Given the description of an element on the screen output the (x, y) to click on. 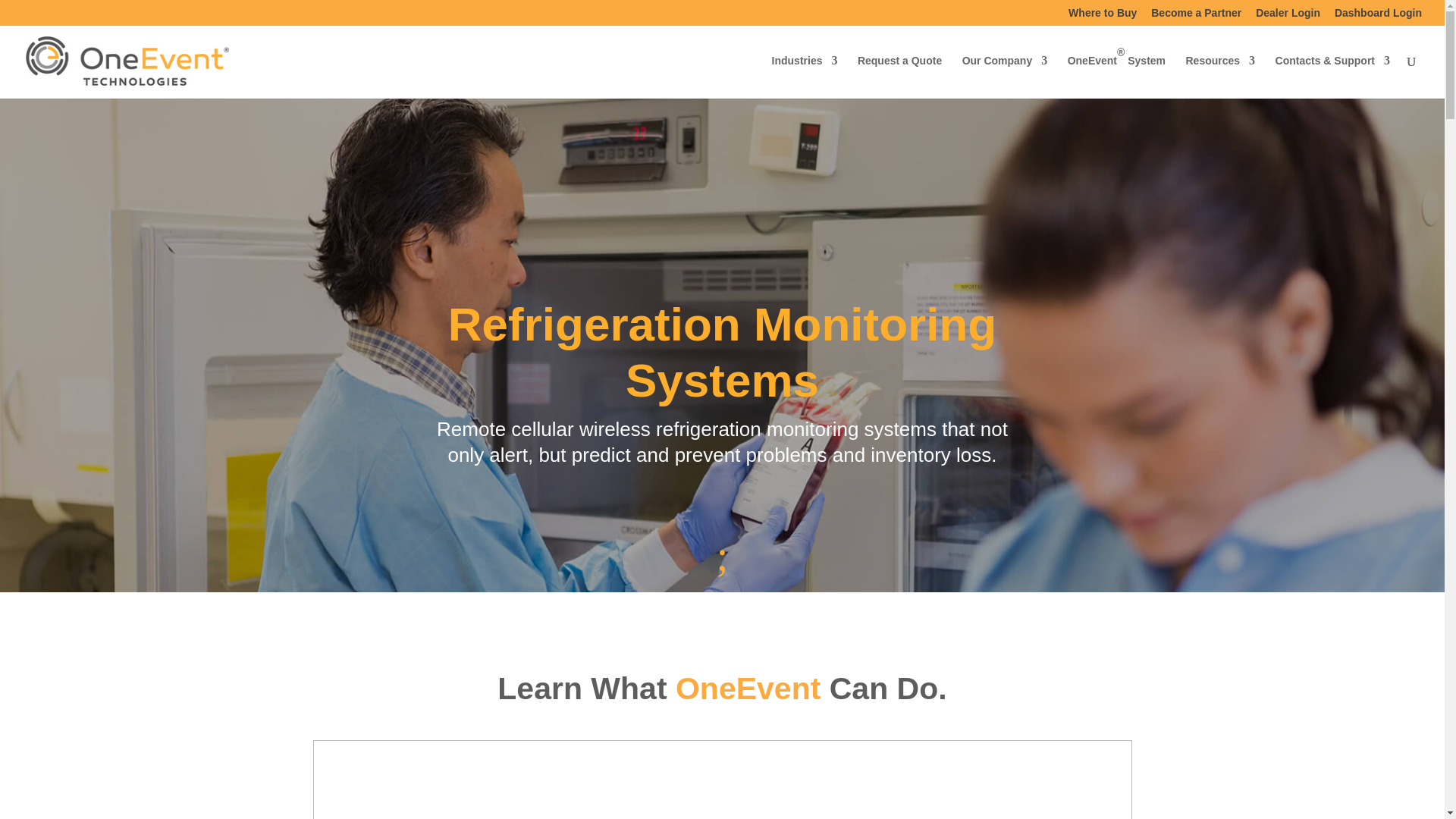
Industries (804, 76)
Resources (1220, 76)
Our Company (1005, 76)
Request a Quote (899, 76)
Become a Partner (1196, 12)
Dashboard Login (1378, 12)
OneEvent Refrigeration Monitoring System (722, 780)
Dealer Login (1287, 12)
Where to Buy (1102, 12)
